Given the description of an element on the screen output the (x, y) to click on. 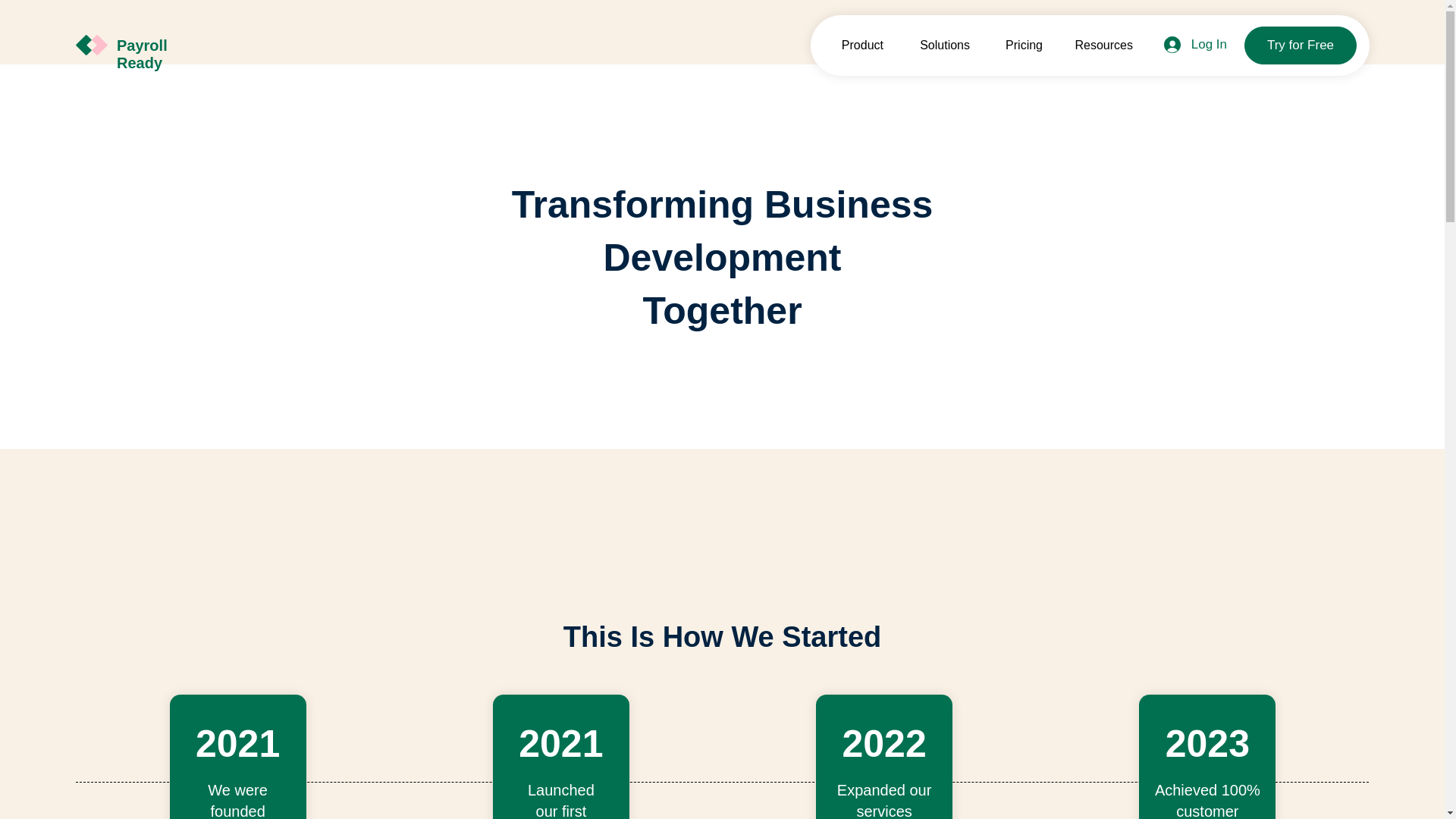
Payroll Ready (141, 53)
Solutions (938, 44)
Resources (1099, 44)
Log In (1195, 44)
Try for Free (1300, 45)
Pricing (1017, 44)
Product (855, 44)
